Given the description of an element on the screen output the (x, y) to click on. 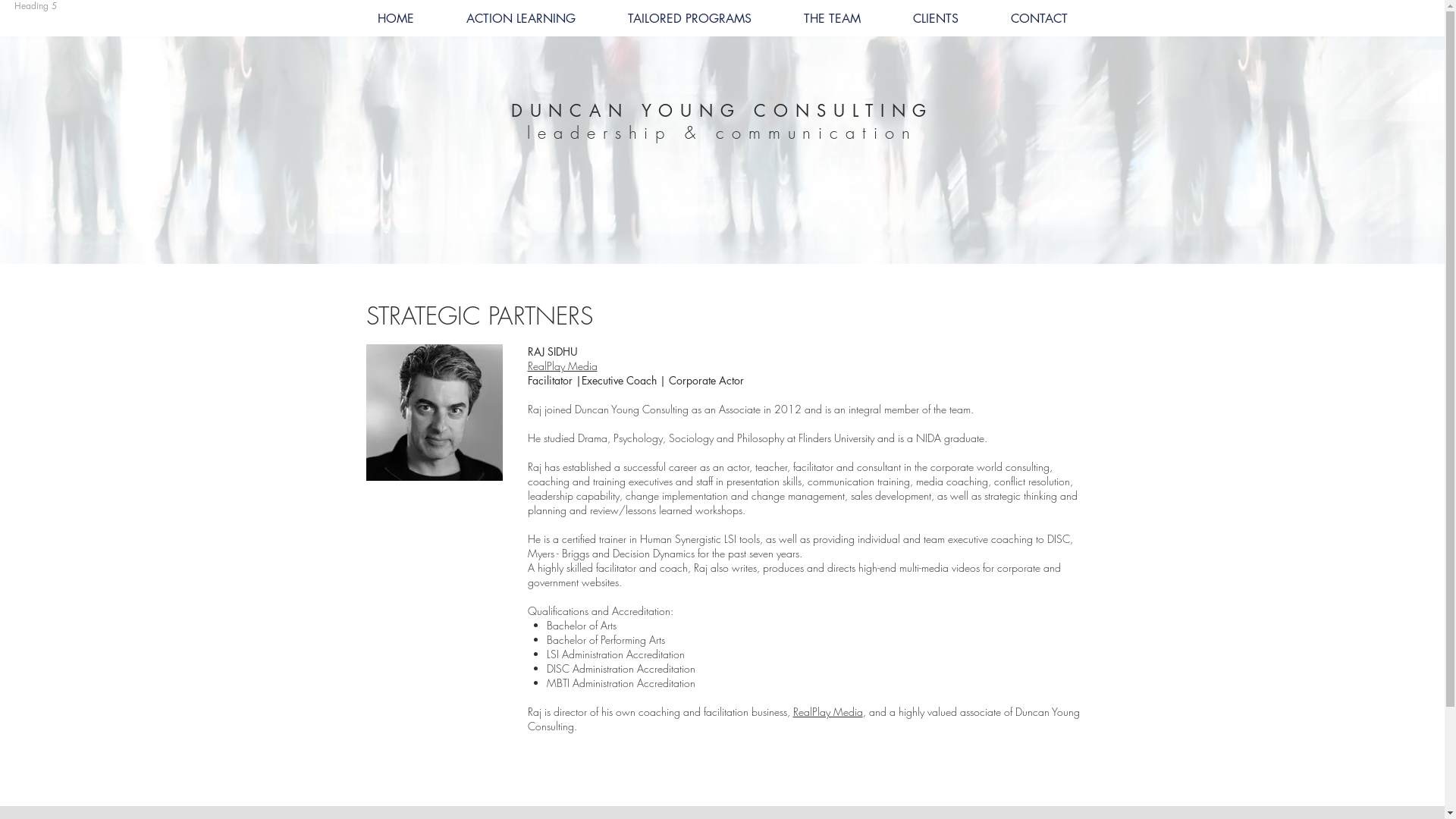
STRATEGIC PARTNERS Element type: text (478, 315)
THE TEAM Element type: text (832, 18)
ACTION LEARNING Element type: text (520, 18)
CONTACT Element type: text (1038, 18)
RealPlay Media Element type: text (562, 365)
DUNCAN YOUNG CONSULTING Element type: text (722, 110)
CLIENTS Element type: text (936, 18)
TAILORED PROGRAMS Element type: text (690, 18)
HOME Element type: text (394, 18)
RealPlay Media Element type: text (827, 711)
